Given the description of an element on the screen output the (x, y) to click on. 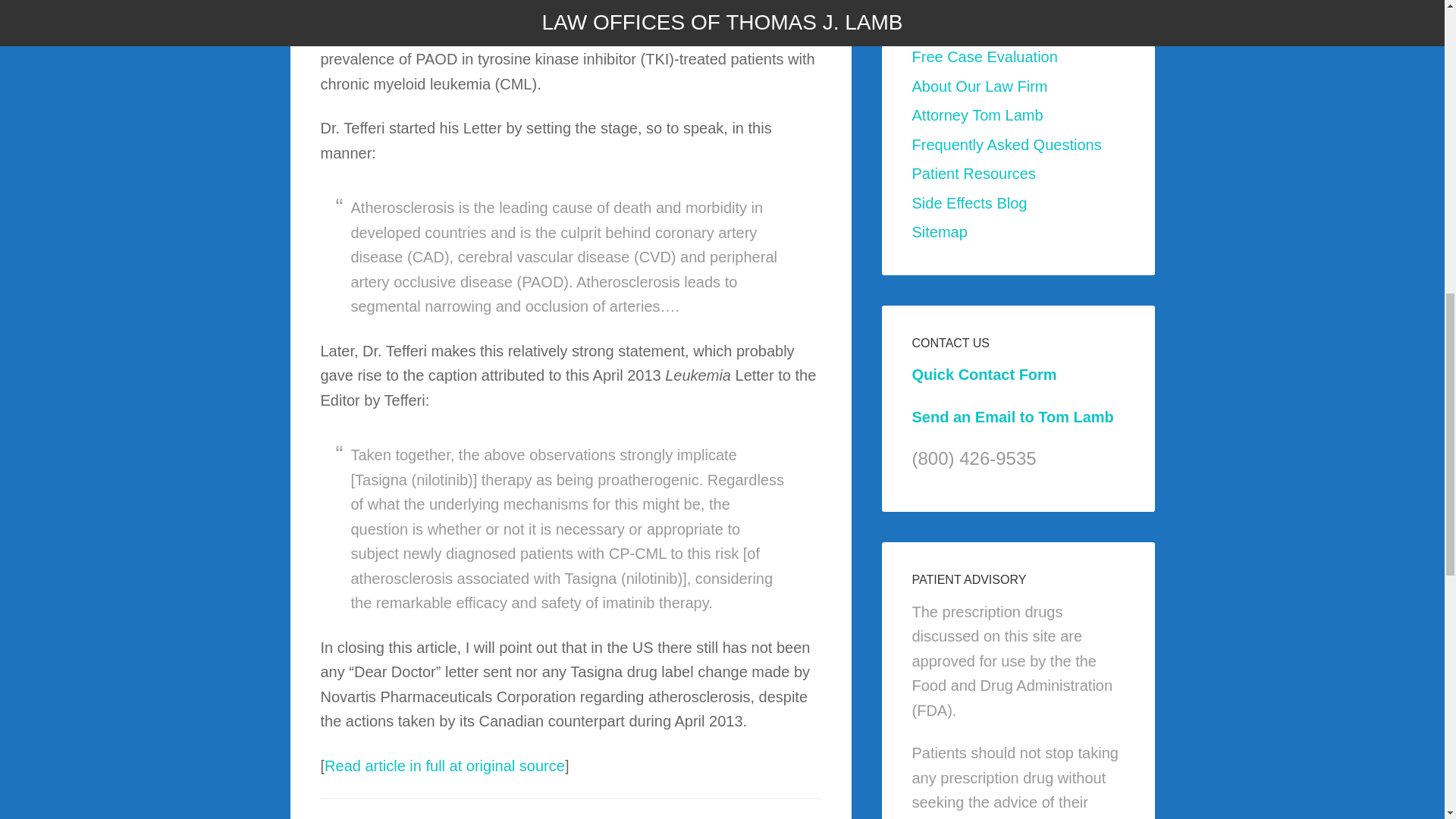
Frequently Asked Questions (1005, 144)
Free Case Evaluation (984, 56)
Quick Contact Form (984, 374)
About Our Law Firm (978, 85)
Sitemap (938, 231)
Read article in full at original source (444, 764)
Send an Email to Tom Lamb (1012, 416)
Side Effects Blog (968, 202)
Attorney Tom Lamb (976, 115)
Current Drug Injury Lawsuits (1007, 27)
